Given the description of an element on the screen output the (x, y) to click on. 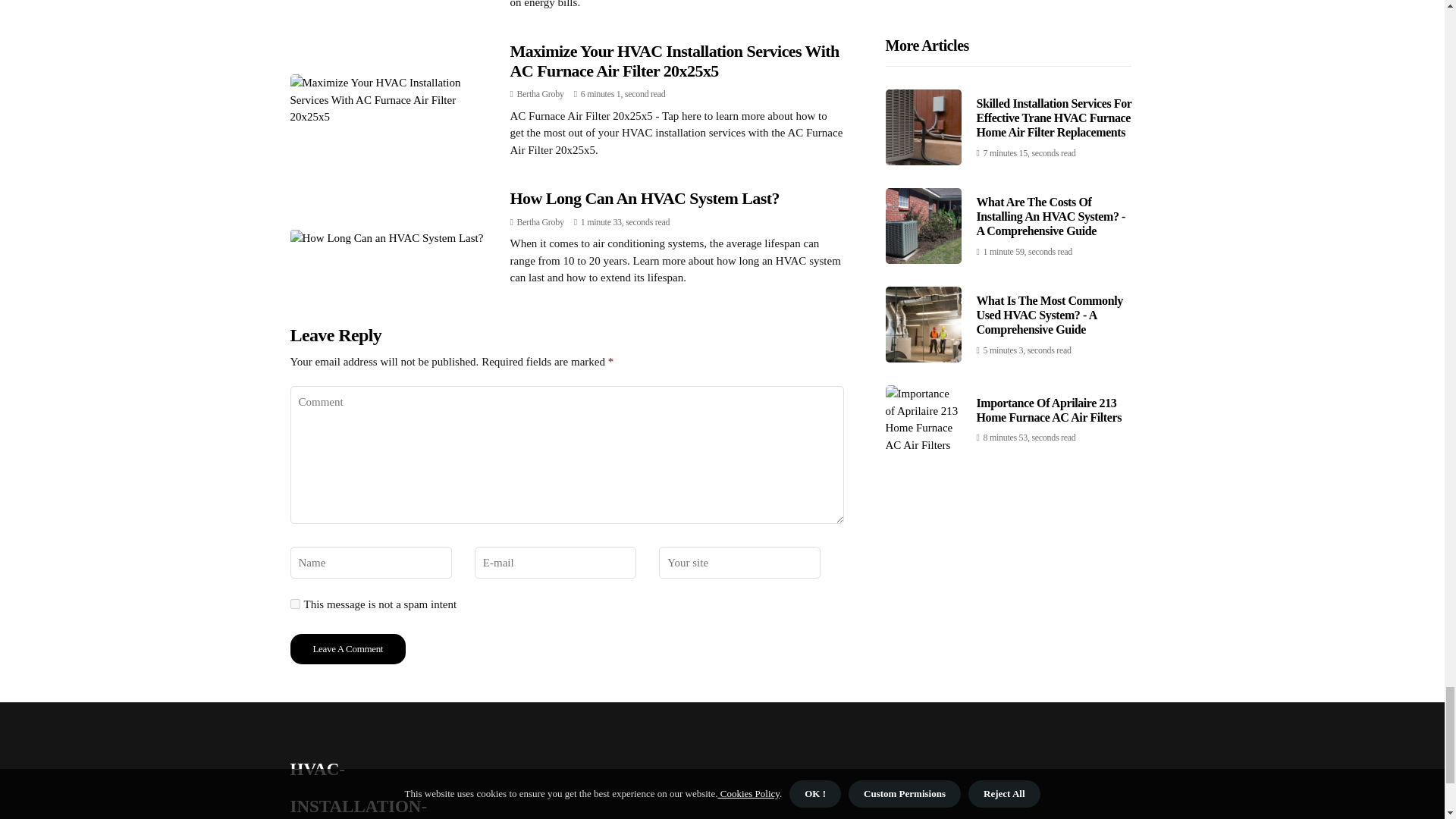
Bertha Groby (540, 222)
Posts by Bertha Groby (540, 222)
yes (294, 603)
Leave a Comment (347, 648)
Bertha Groby (540, 93)
Posts by Bertha Groby (540, 93)
How Long Can An HVAC System Last? (643, 198)
Leave a Comment (347, 648)
